Given the description of an element on the screen output the (x, y) to click on. 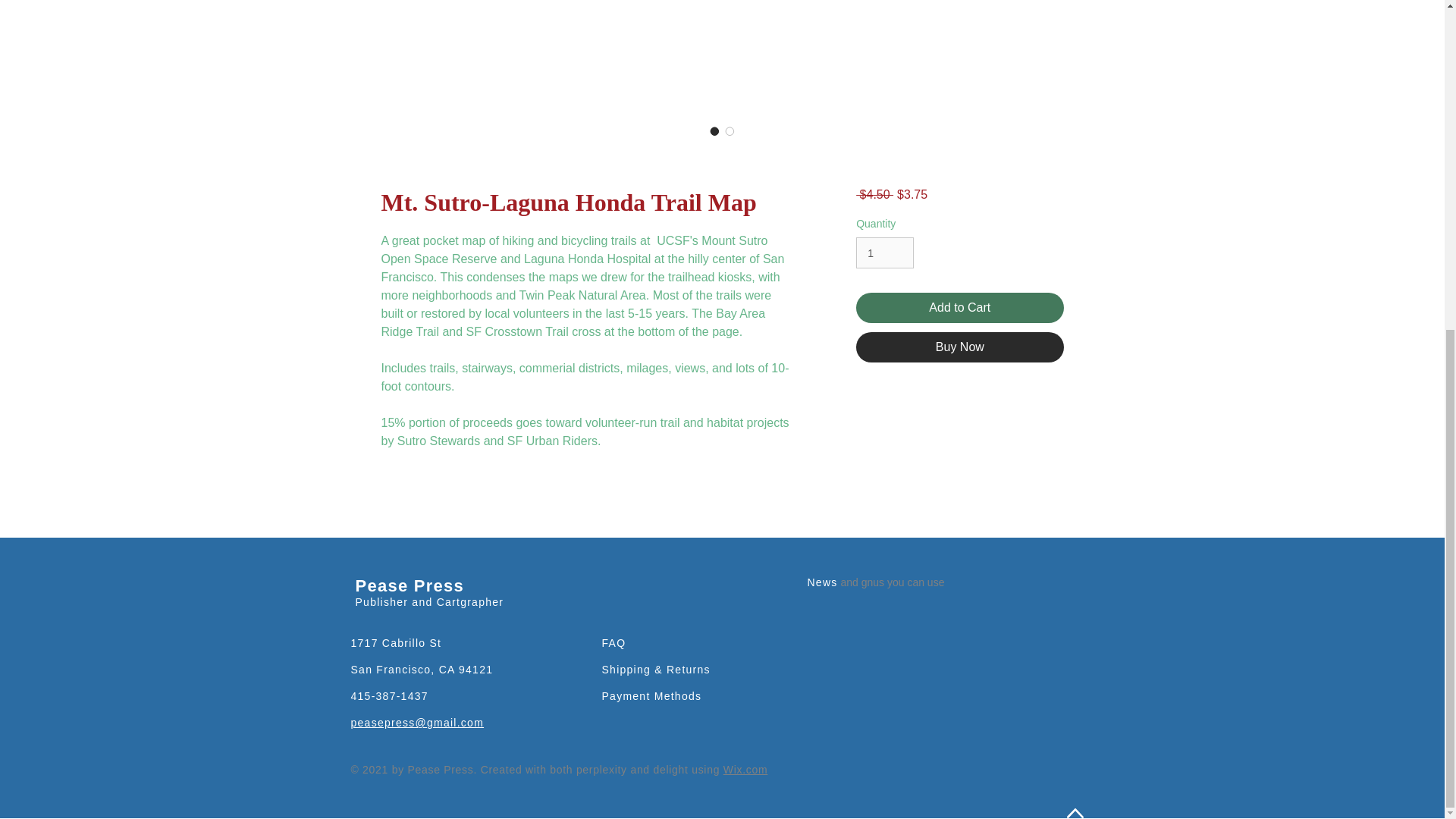
Buy Now (959, 347)
FAQ (614, 643)
1 (885, 252)
Wix.com (745, 769)
Add to Cart (959, 307)
Payment Methods (651, 695)
